Given the description of an element on the screen output the (x, y) to click on. 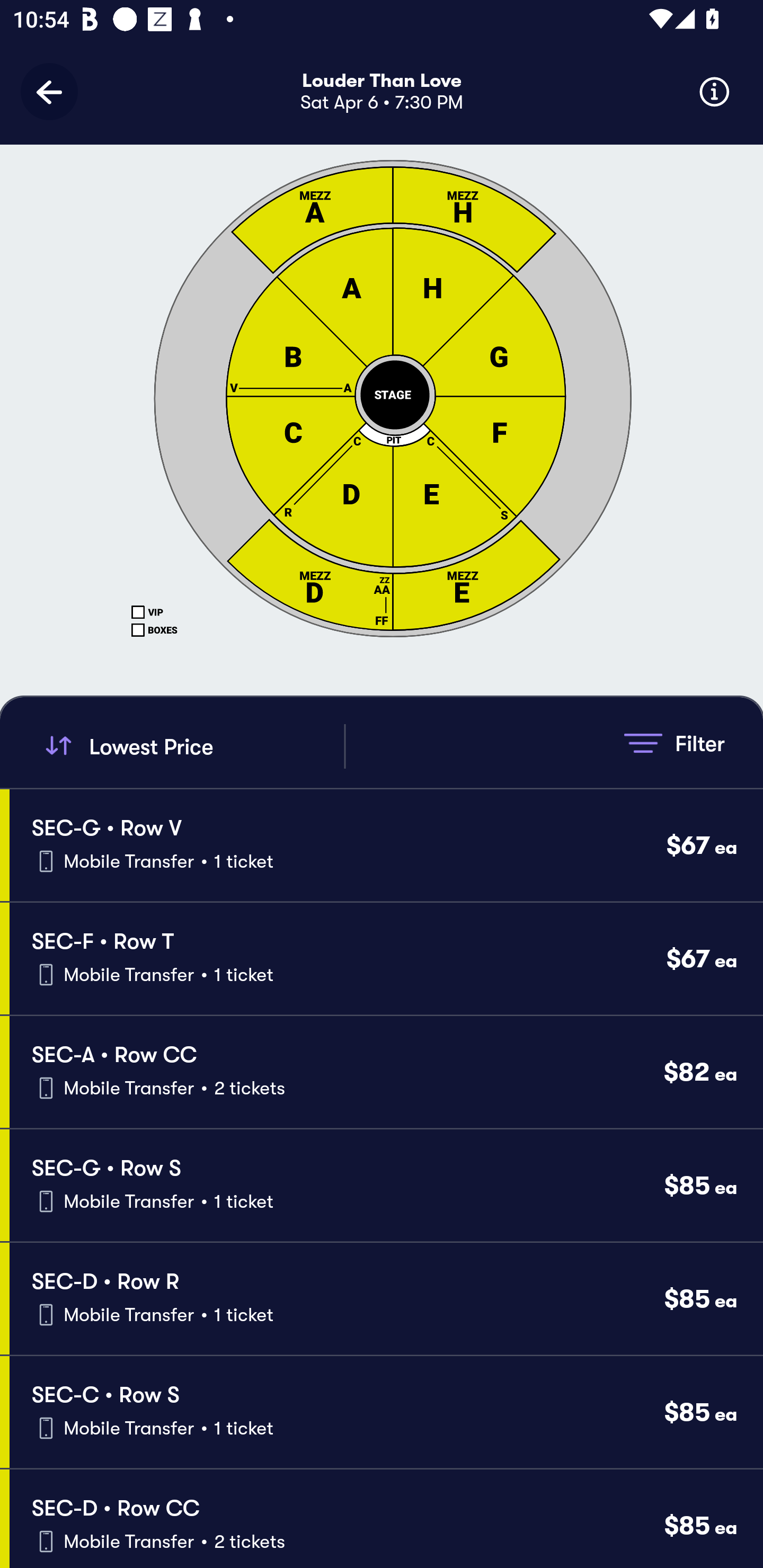
Lowest Price (191, 746)
Filter (674, 743)
SEC-G • Row V Mobile Transfer • 1 ticket $67 ea (386, 844)
SEC-F • Row T Mobile Transfer • 1 ticket $67 ea (386, 958)
SEC-A • Row CC Mobile Transfer • 2 tickets $82 ea (386, 1071)
SEC-G • Row S Mobile Transfer • 1 ticket $85 ea (386, 1184)
SEC-D • Row R Mobile Transfer • 1 ticket $85 ea (386, 1298)
SEC-C • Row S Mobile Transfer • 1 ticket $85 ea (386, 1411)
SEC-D • Row CC Mobile Transfer • 2 tickets $85 ea (386, 1518)
